Given the description of an element on the screen output the (x, y) to click on. 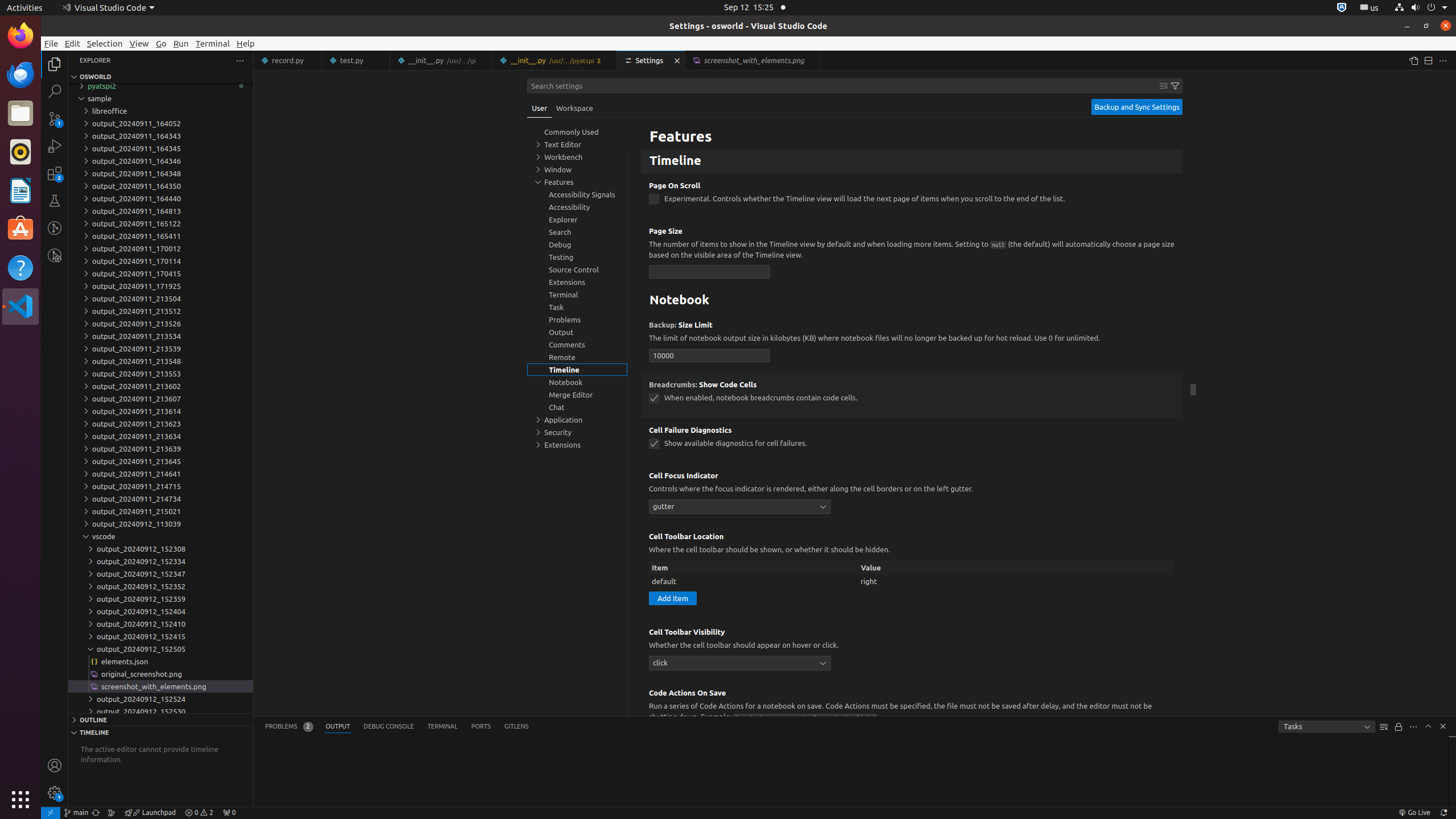
output_20240911_213607 Element type: tree-item (160, 398)
output_20240912_152359 Element type: tree-item (160, 598)
Run Element type: push-button (181, 43)
Outline Section Element type: push-button (160, 719)
Ports Element type: page-tab (480, 726)
